Given the description of an element on the screen output the (x, y) to click on. 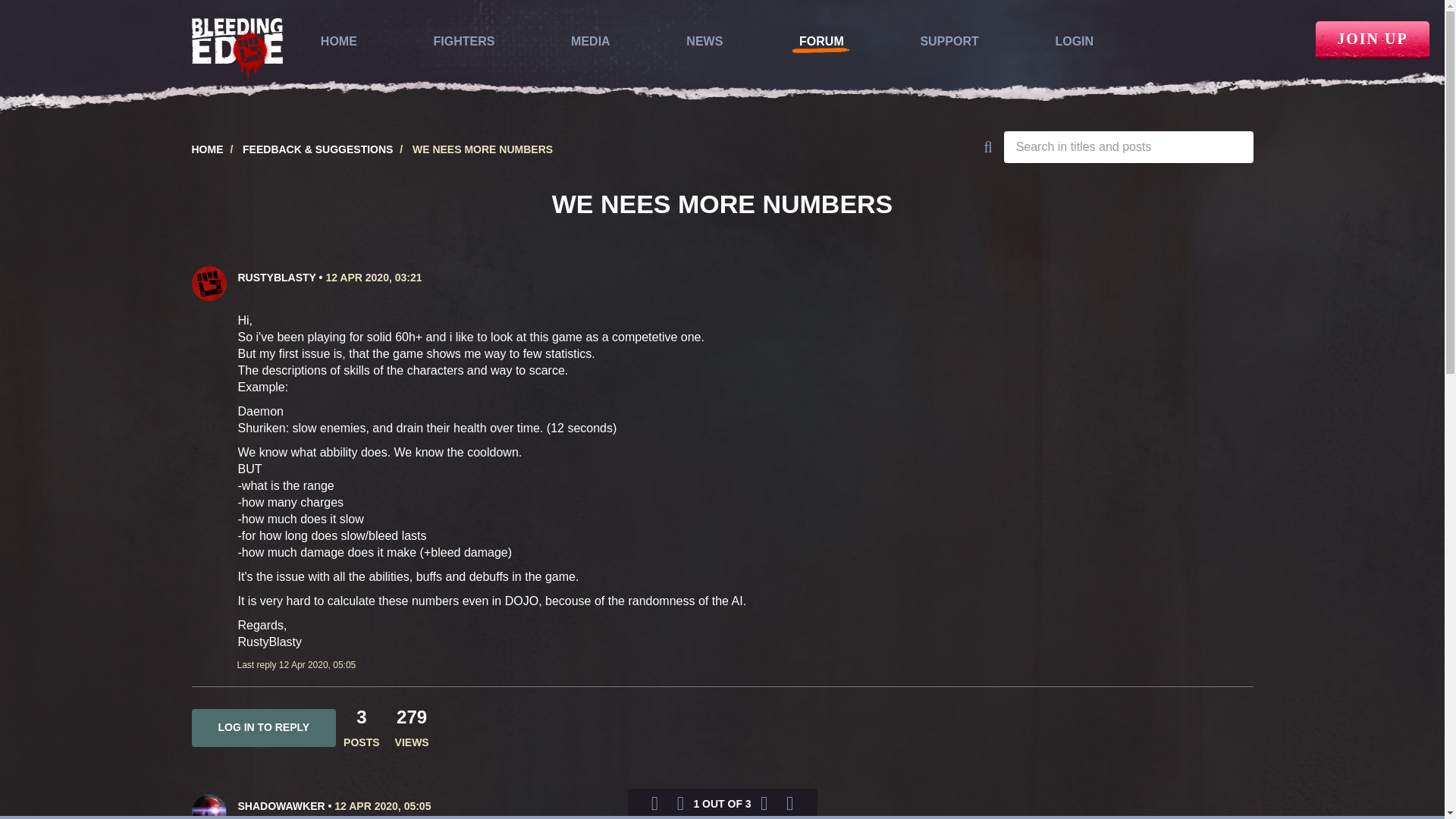
Offline (226, 802)
RUSTYBLASTY (276, 277)
12 APR 2020, 05:05 (382, 806)
SUPPORT (949, 41)
FORUM (821, 41)
LOGIN (1073, 41)
NEWS (703, 41)
Last reply 12 Apr 2020, 05:05 (295, 665)
FIGHTERS (464, 41)
12 Apr 2020, 05:05 (317, 665)
Offline (226, 273)
279 (411, 717)
MEDIA (590, 41)
12 Apr 2020, 05:05 (382, 806)
JOIN UP (1372, 39)
